Given the description of an element on the screen output the (x, y) to click on. 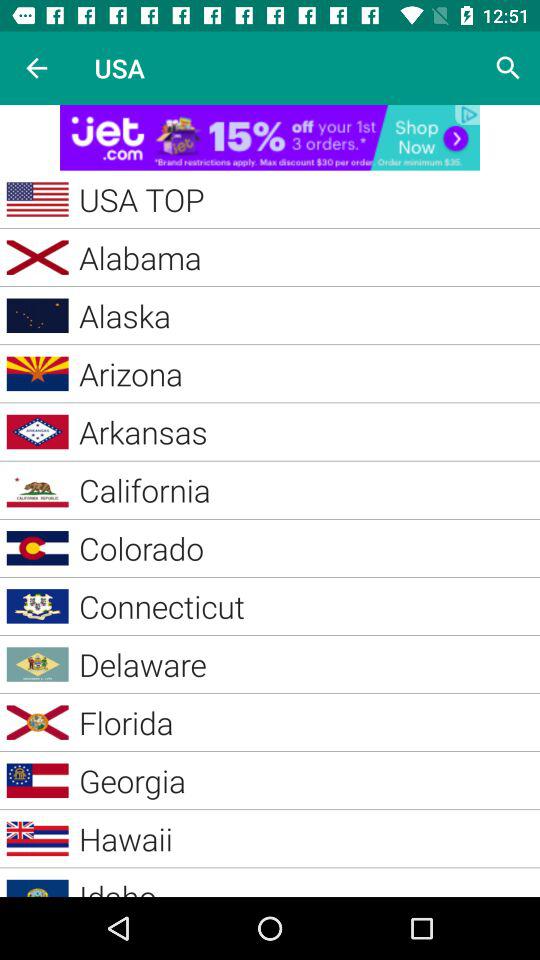
go to settings option (508, 67)
